Given the description of an element on the screen output the (x, y) to click on. 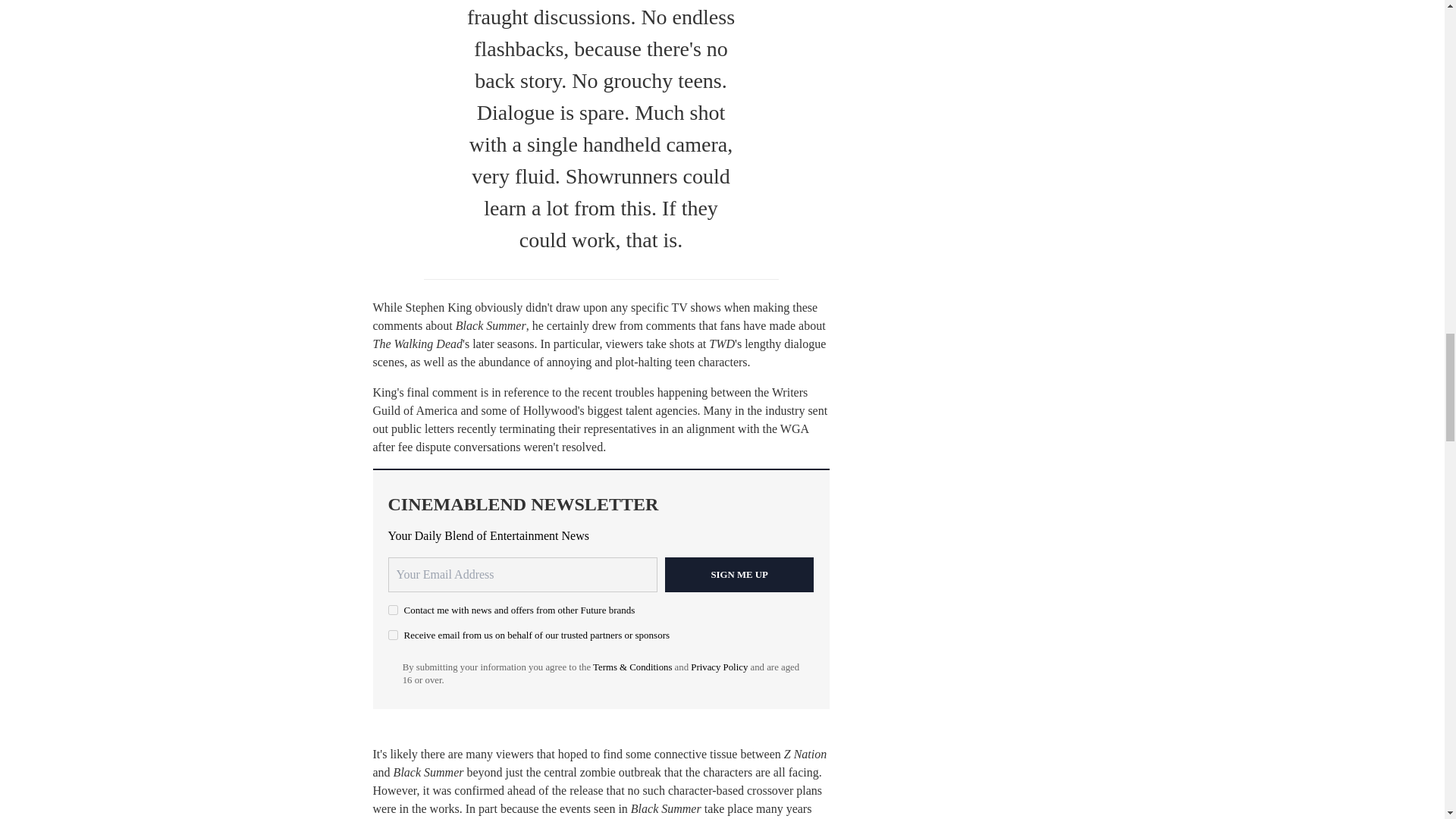
on (392, 610)
on (392, 634)
Sign me up (739, 574)
